Given the description of an element on the screen output the (x, y) to click on. 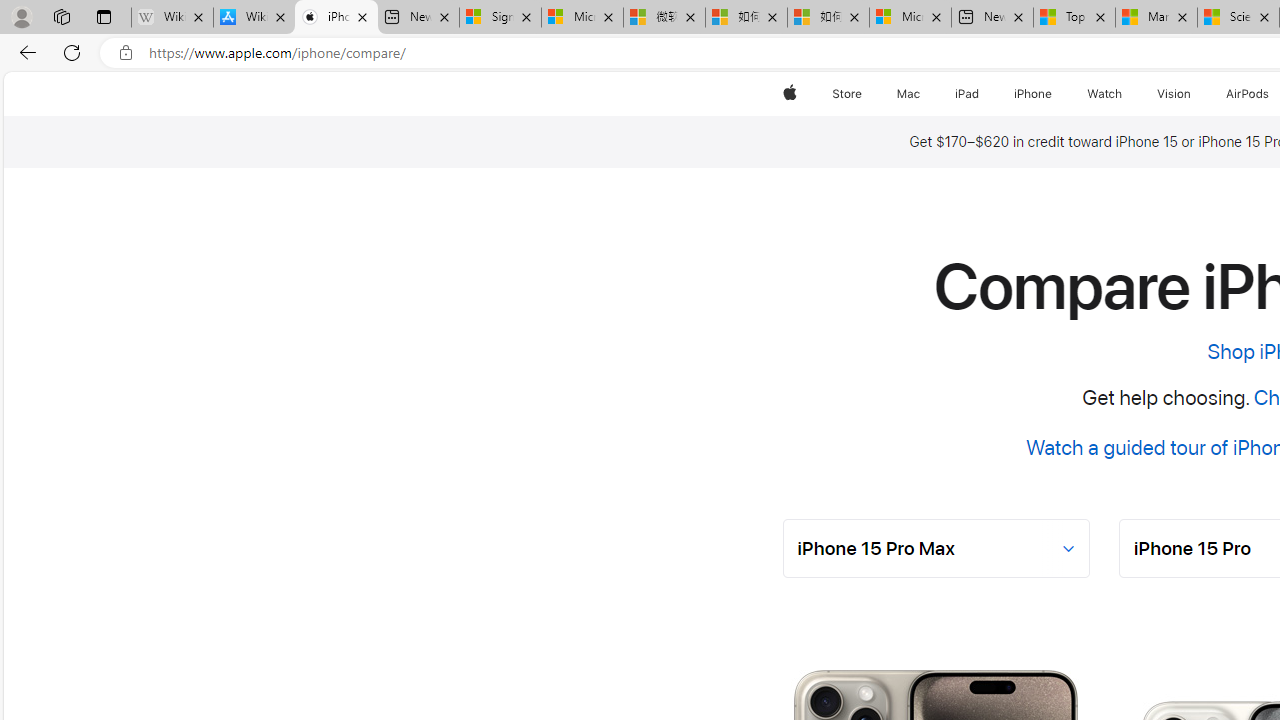
Mac (908, 93)
AirPods (1247, 93)
Apple (789, 93)
Watch menu (1125, 93)
Marine life - MSN (1156, 17)
iPhone menu (1055, 93)
Vision (1174, 93)
AutomationID: selector-0 (936, 547)
iPhone (1033, 93)
